Given the description of an element on the screen output the (x, y) to click on. 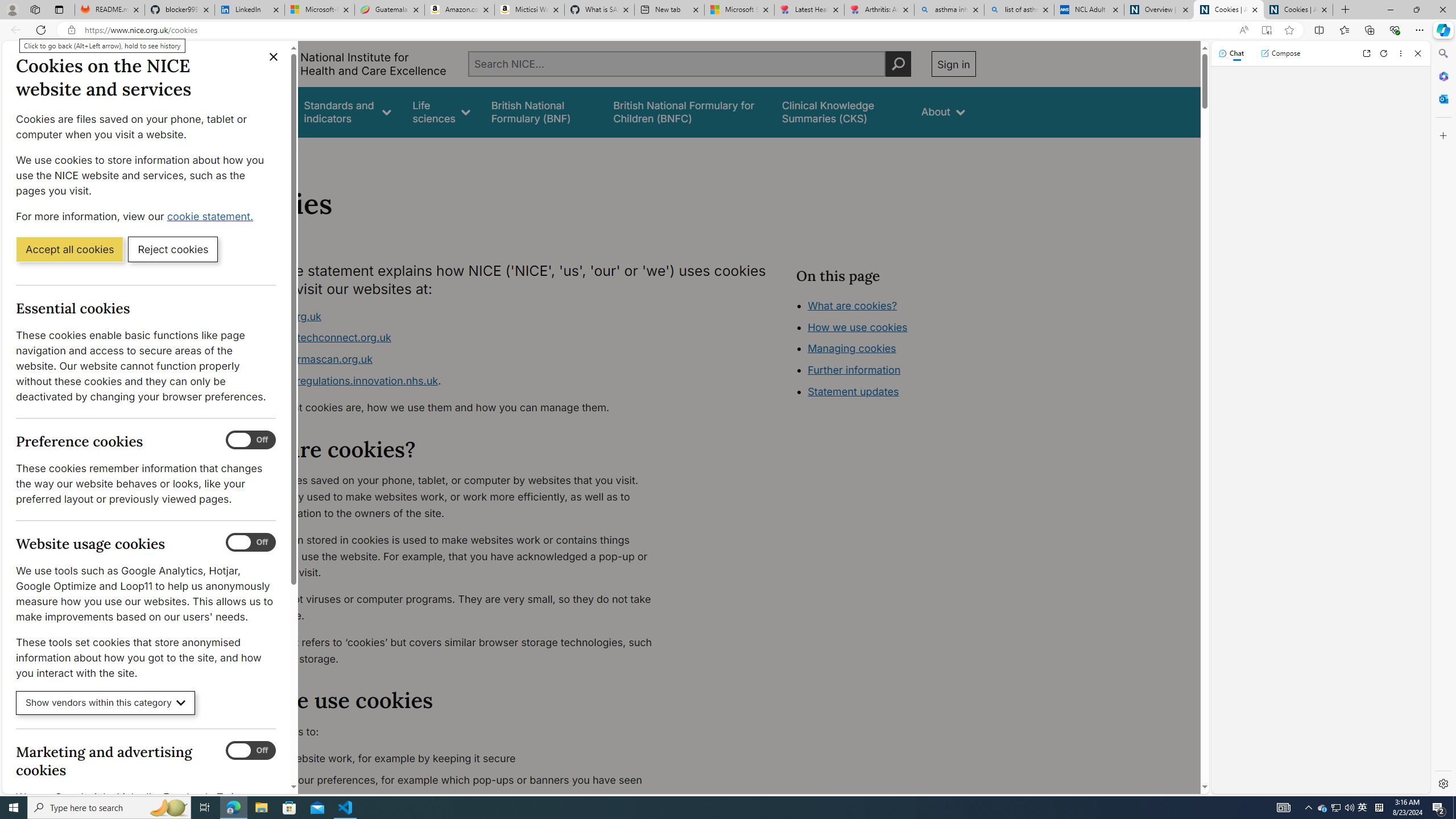
www.digitalregulations.innovation.nhs.uk (338, 380)
Cookies | About | NICE (1297, 9)
make our website work, for example by keeping it secure (452, 759)
Class: in-page-nav__list (884, 349)
Preference cookies (250, 439)
